Given the description of an element on the screen output the (x, y) to click on. 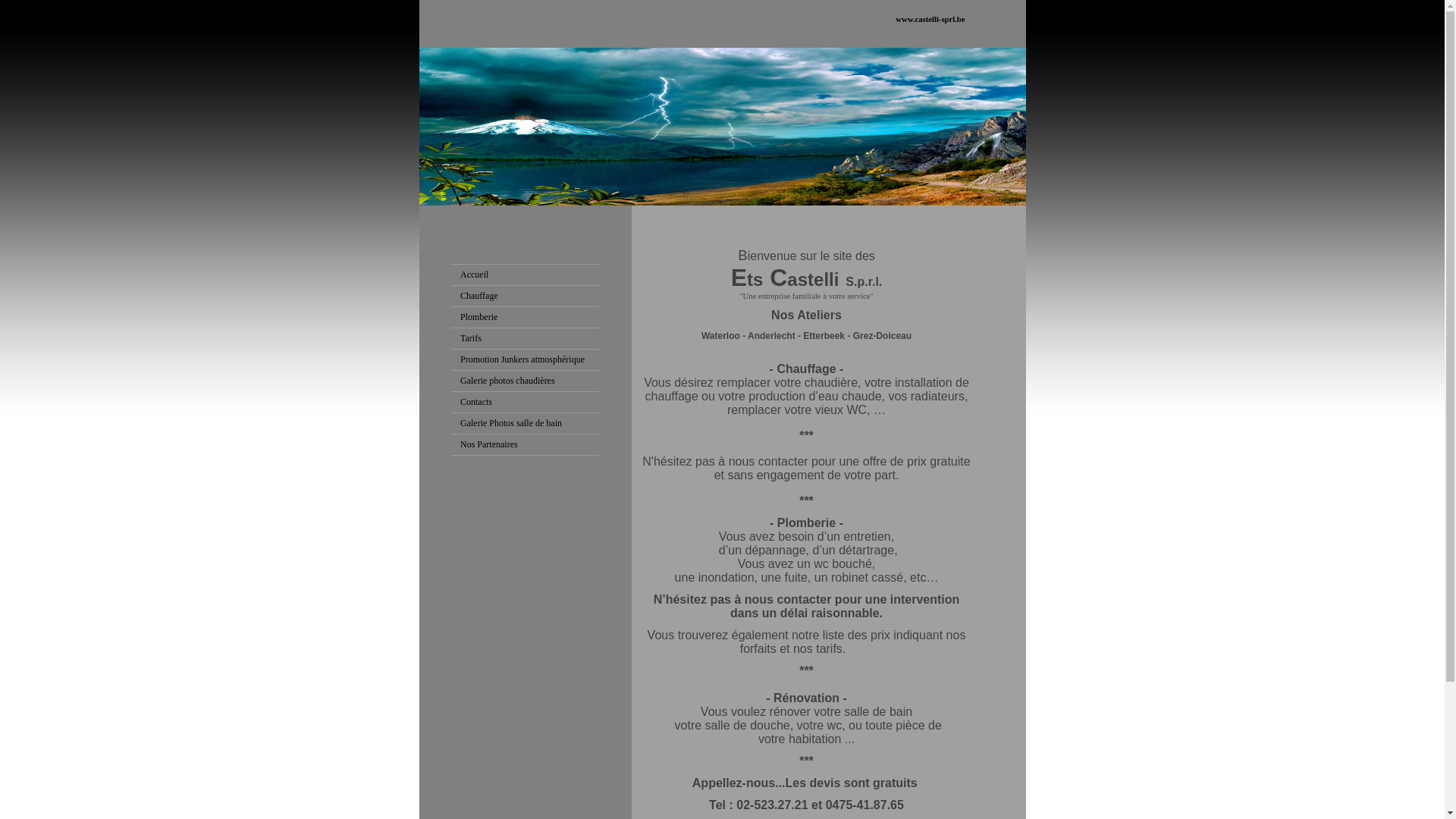
Contacts Element type: text (476, 401)
Galerie Photos salle de bain Element type: text (510, 422)
www.castelli-sprl.be Element type: text (929, 19)
Tarifs Element type: text (470, 337)
Chauffage Element type: text (479, 295)
Nos Partenaires Element type: text (488, 444)
Plomberie Element type: text (478, 316)
Accueil Element type: text (474, 274)
